Given the description of an element on the screen output the (x, y) to click on. 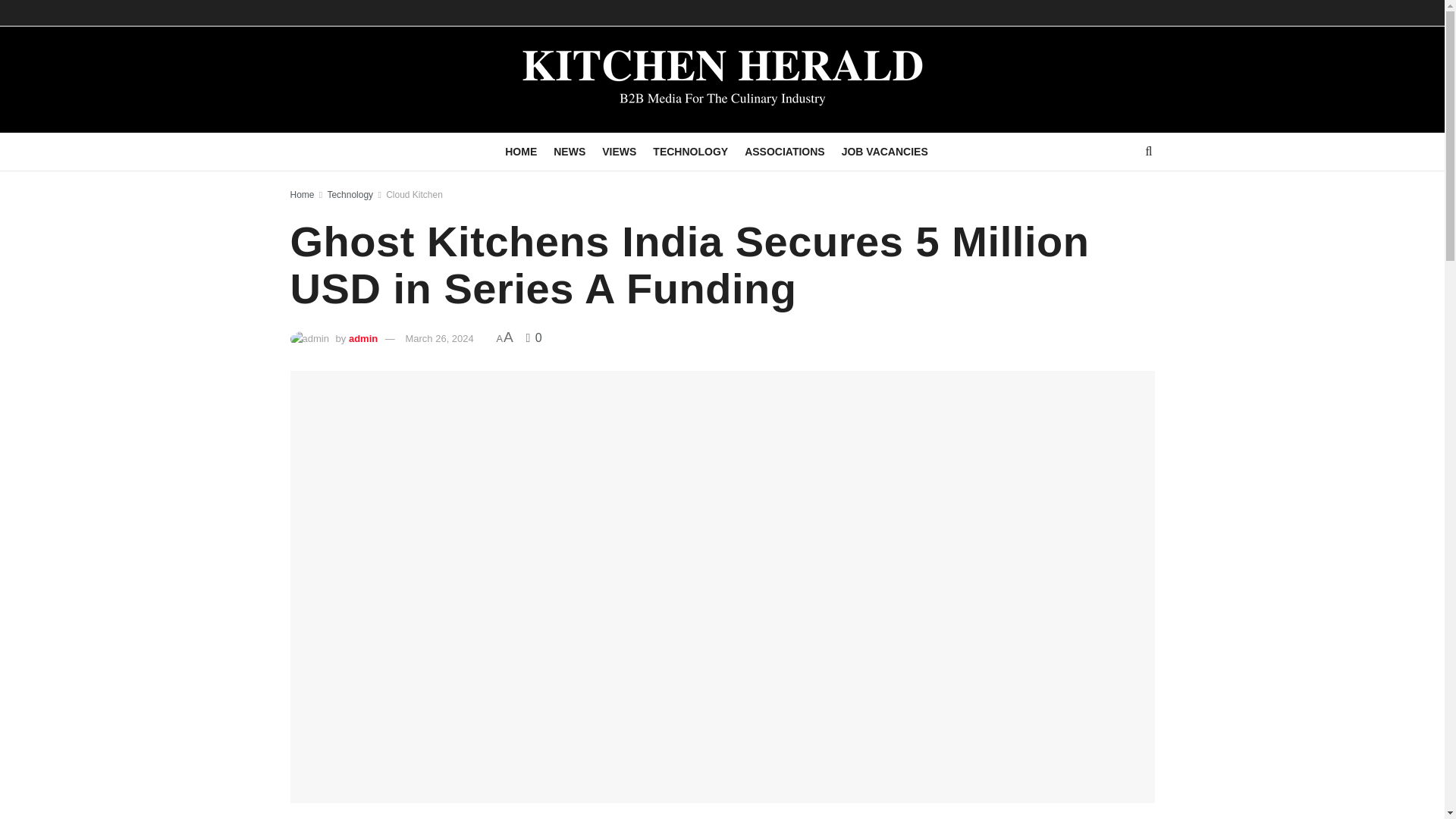
ASSOCIATIONS (784, 151)
JOB VACANCIES (884, 151)
VIEWS (619, 151)
TECHNOLOGY (690, 151)
